Given the description of an element on the screen output the (x, y) to click on. 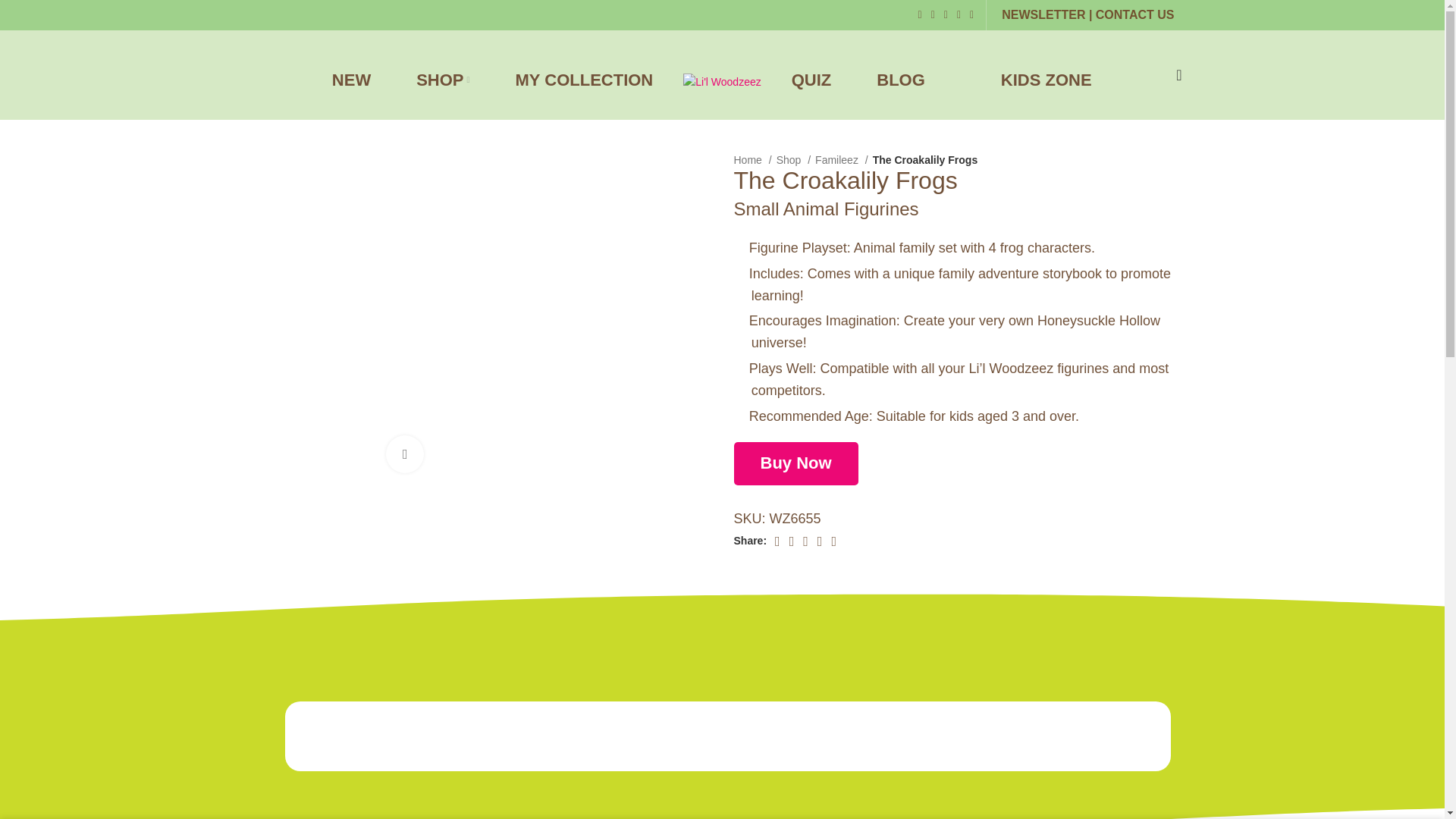
QUIZ (811, 74)
SHOP (442, 74)
NEW (351, 74)
MY COLLECTION (584, 74)
BLOG (900, 74)
Shop (793, 159)
Buy Now (796, 463)
Famileez (841, 159)
Home (752, 159)
KIDS ZONE (1045, 74)
